Given the description of an element on the screen output the (x, y) to click on. 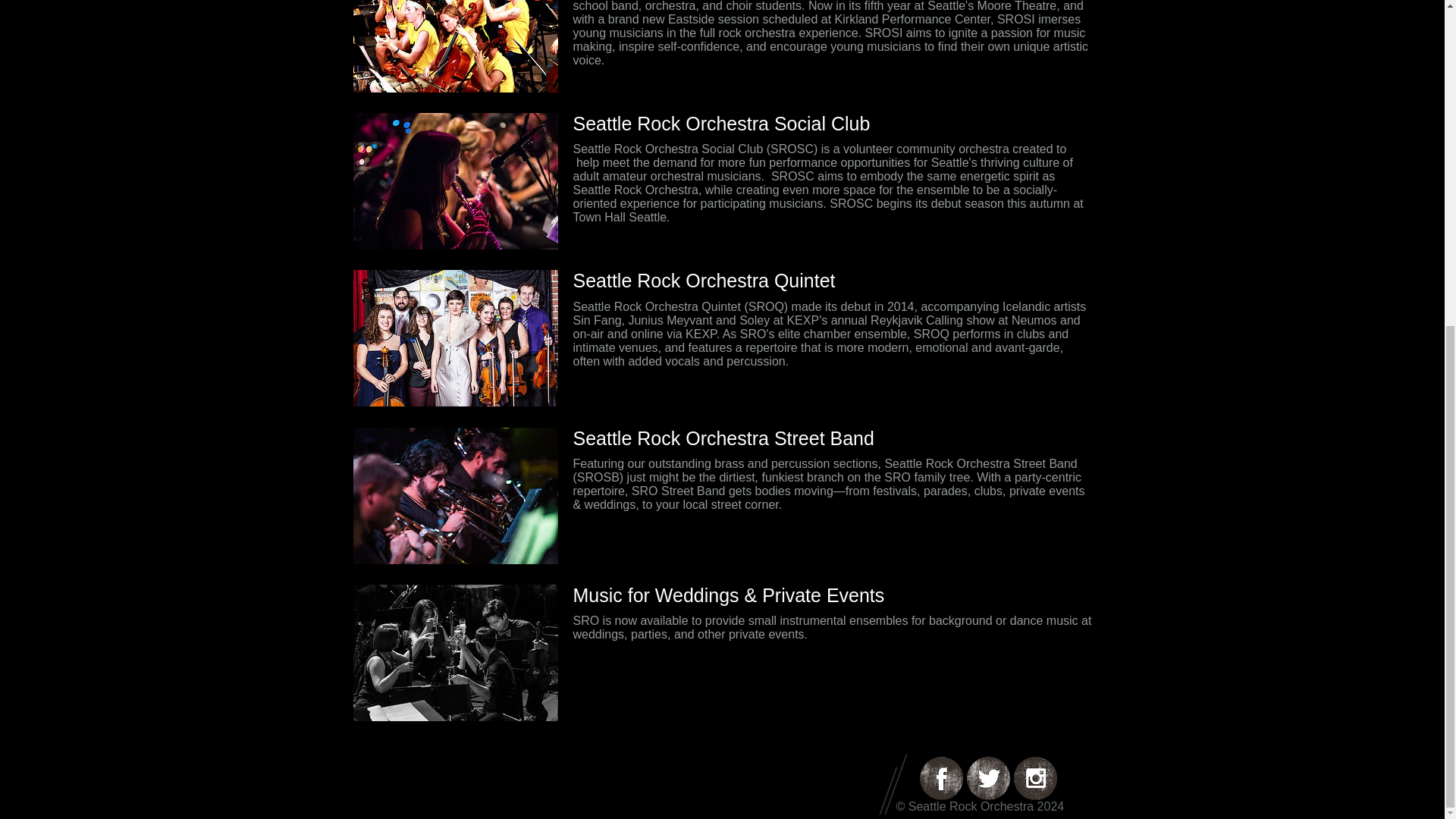
57.jpg (455, 181)
08.jpg (455, 652)
58.jpg (455, 495)
